Given the description of an element on the screen output the (x, y) to click on. 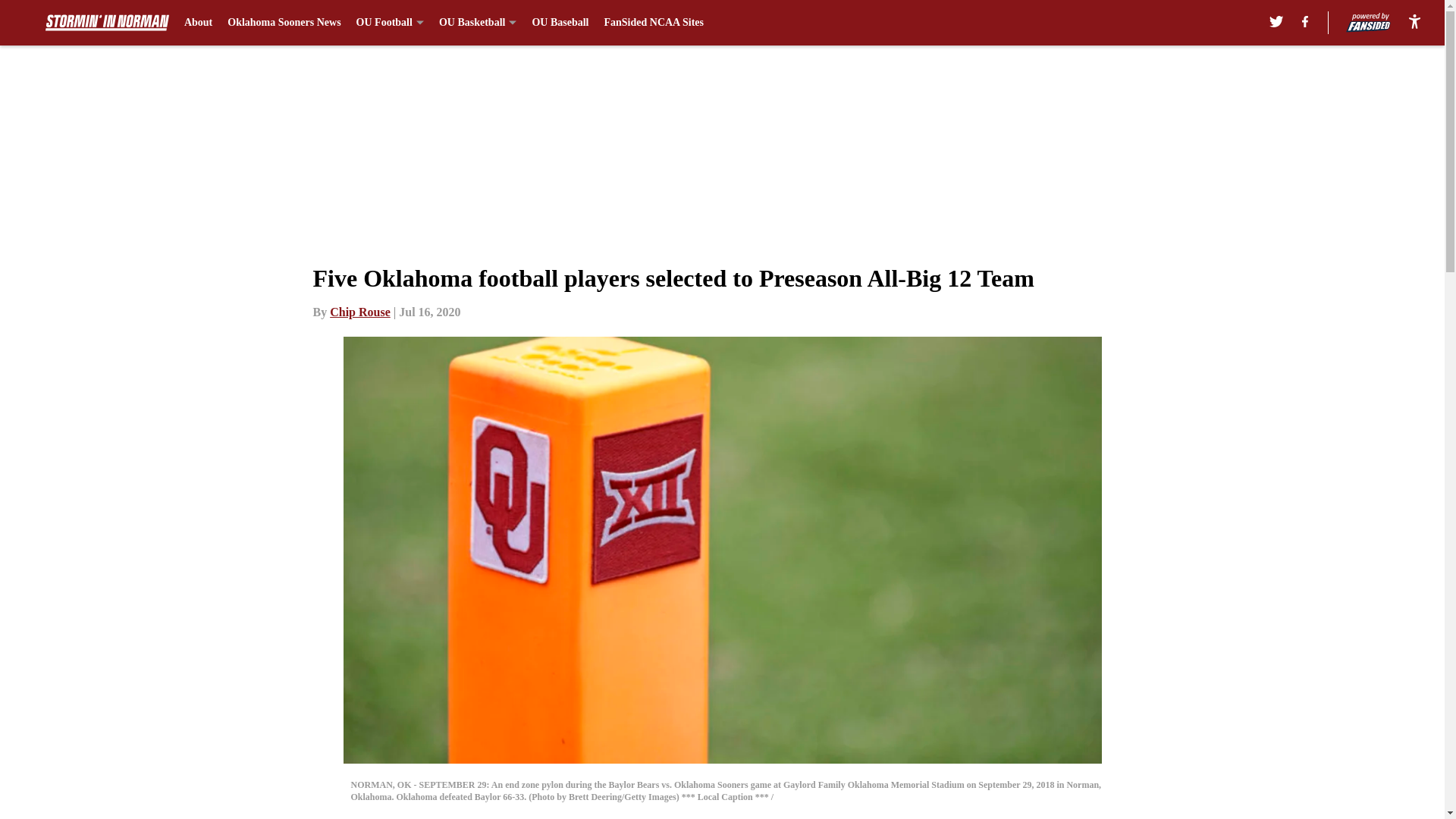
OU Baseball (559, 22)
About (198, 22)
FanSided NCAA Sites (653, 22)
Oklahoma Sooners News (283, 22)
Chip Rouse (360, 311)
